Given the description of an element on the screen output the (x, y) to click on. 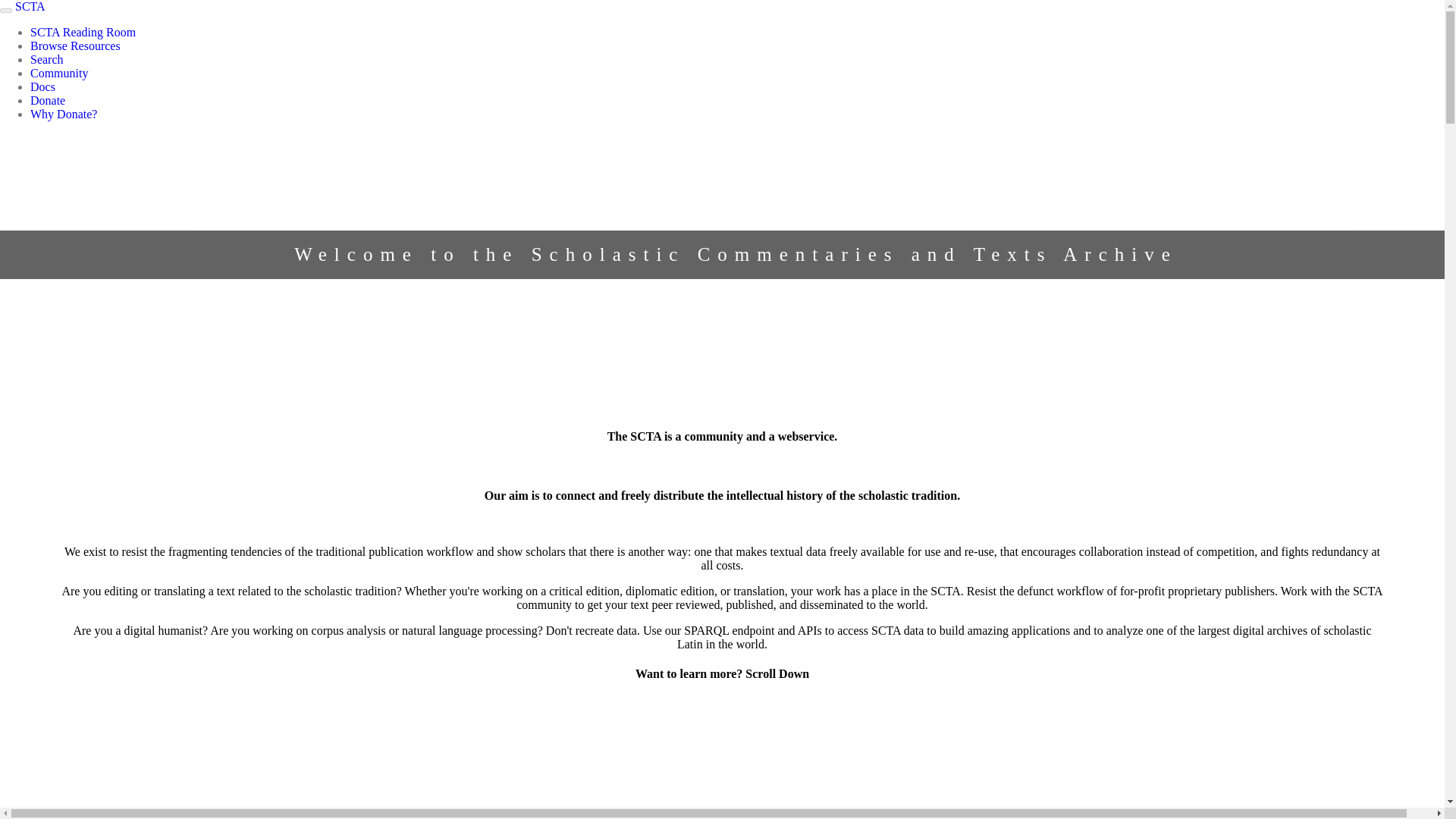
SCTA (29, 6)
Donate (47, 100)
Why Donate? (63, 113)
Community (58, 72)
Docs (42, 86)
SCTA Reading Room (82, 31)
Search (47, 59)
Browse Resources (75, 45)
